Given the description of an element on the screen output the (x, y) to click on. 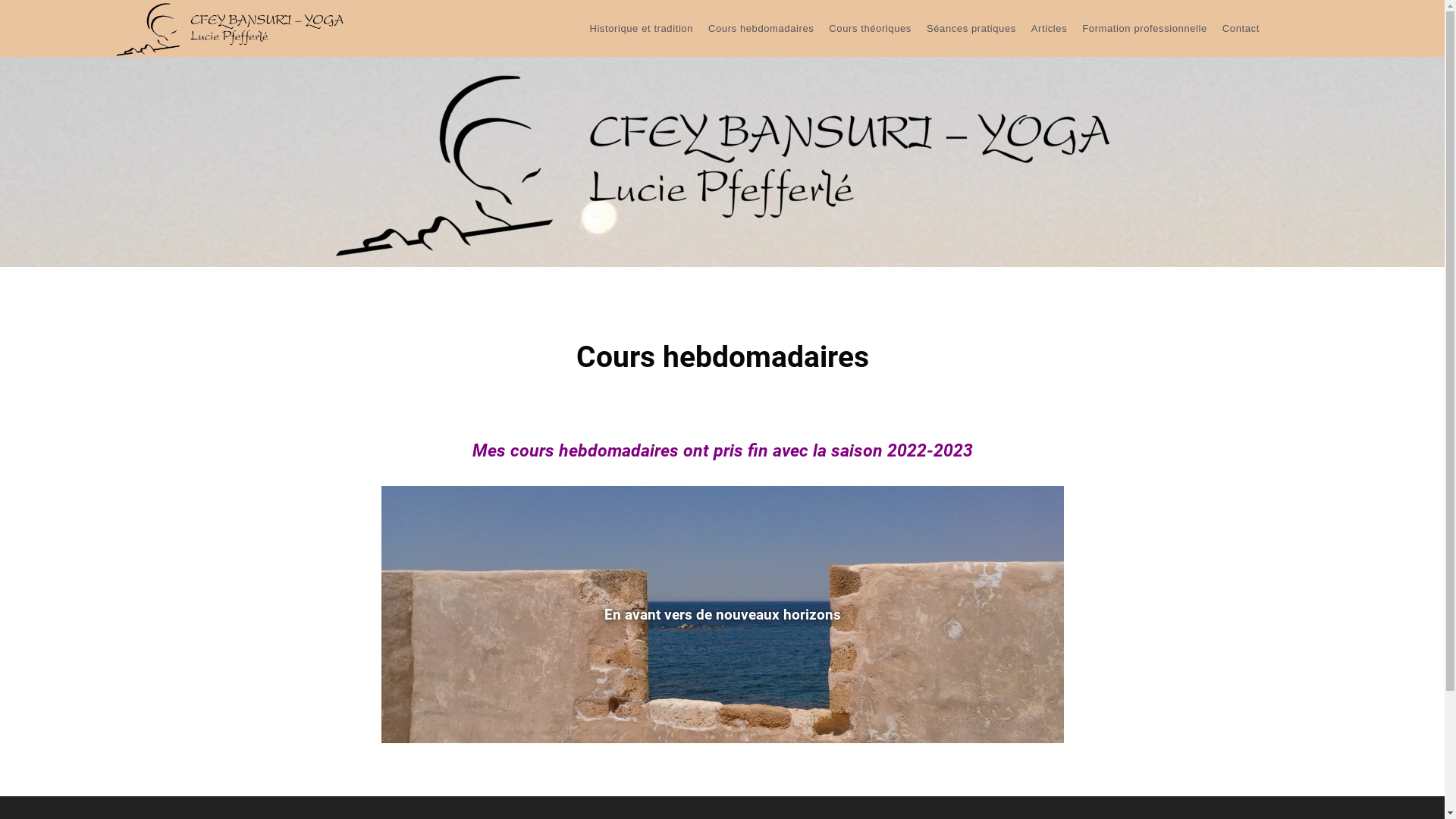
Historique et tradition Element type: text (640, 28)
Cours hebdomadaires Element type: text (760, 28)
Contact Element type: text (1240, 28)
Formation professionnelle Element type: text (1144, 28)
Articles Element type: text (1048, 28)
